Given the description of an element on the screen output the (x, y) to click on. 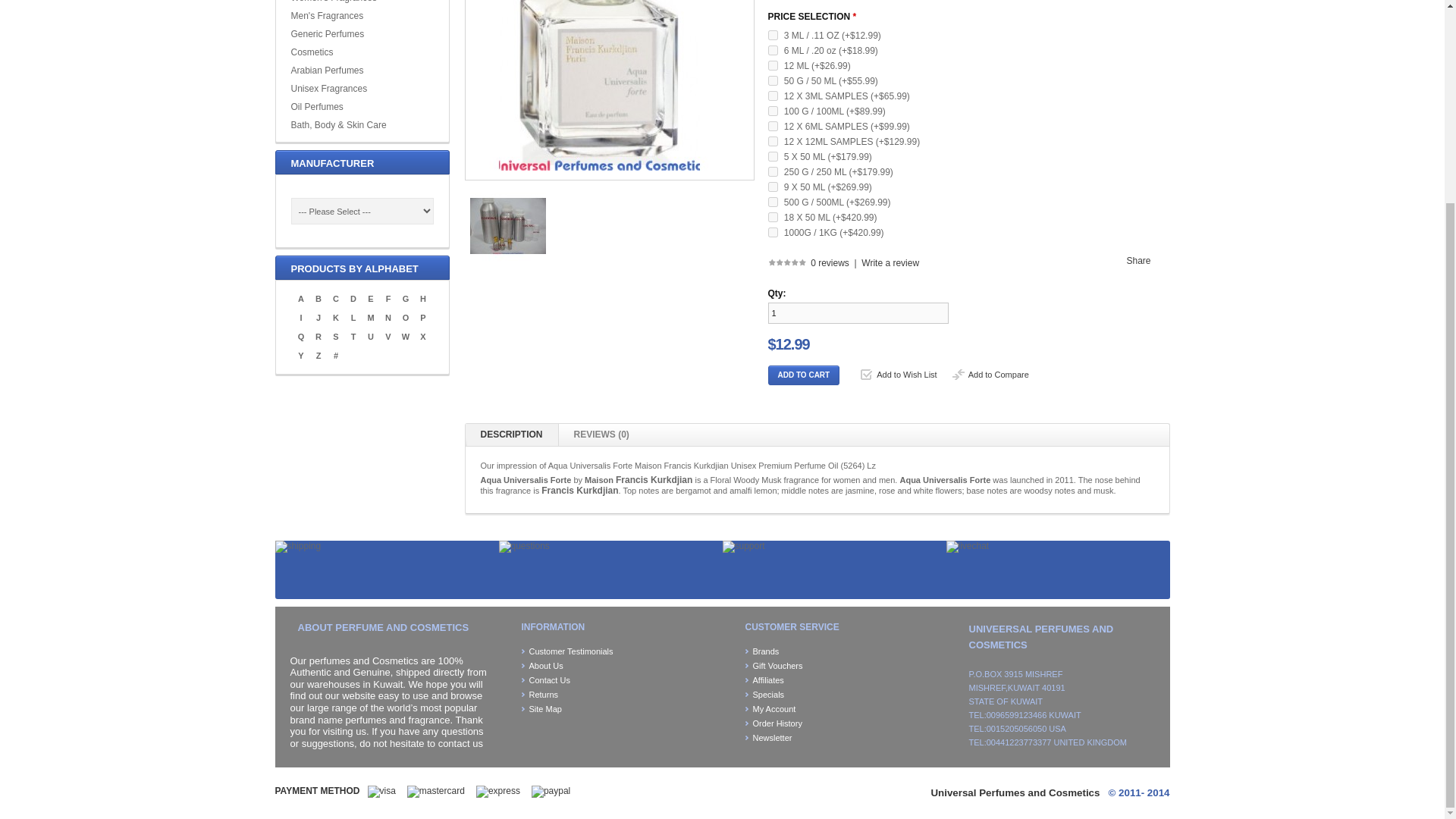
40292 (772, 171)
40296 (772, 50)
40286 (772, 156)
Add to Cart (803, 374)
40290 (772, 232)
40297 (772, 35)
40294 (772, 80)
40291 (772, 202)
40295 (772, 65)
40289 (772, 95)
1 (857, 312)
40288 (772, 126)
40293 (772, 111)
40298 (772, 186)
40287 (772, 141)
